Given the description of an element on the screen output the (x, y) to click on. 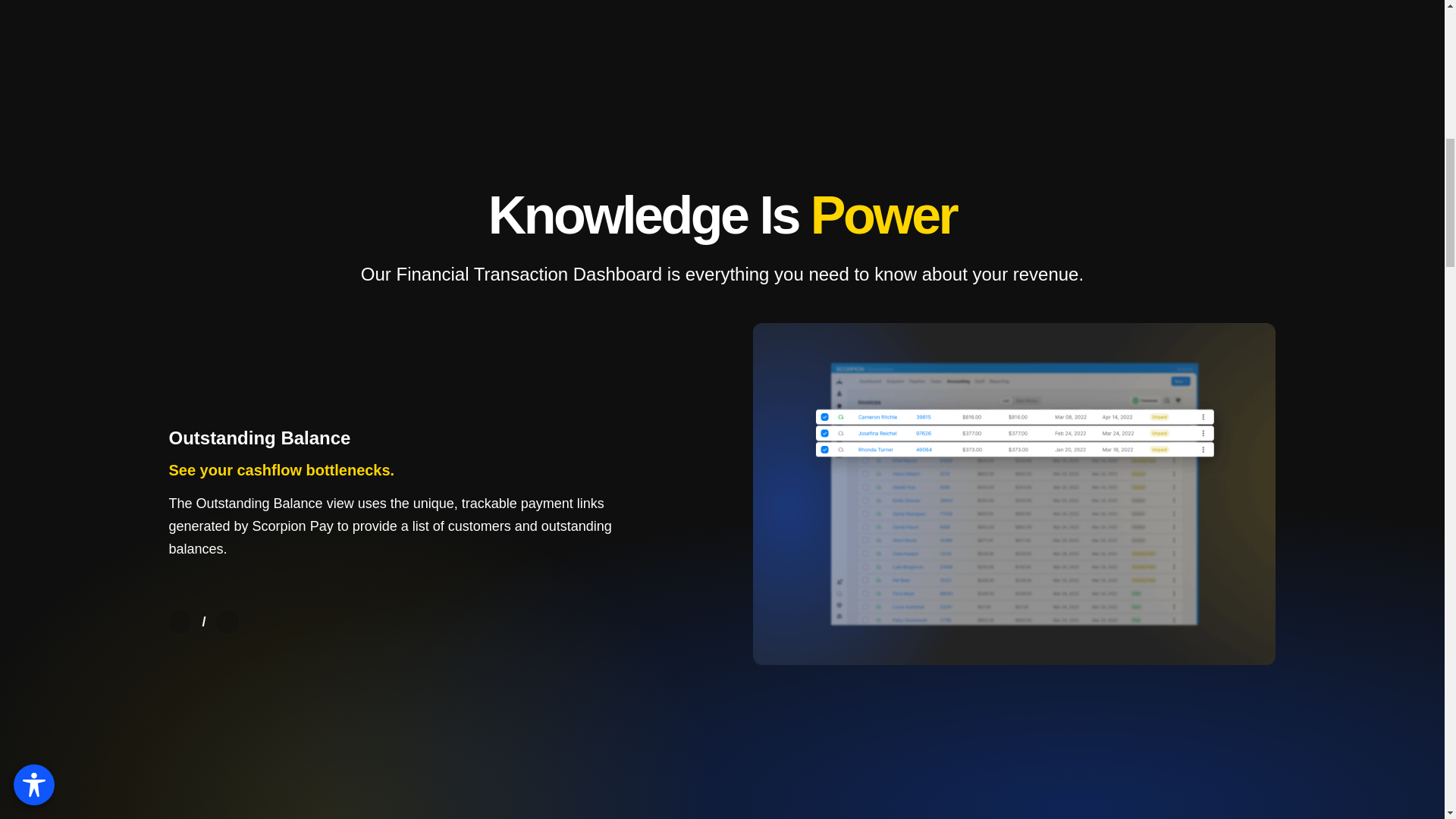
View previous item (179, 621)
View next item (226, 621)
